Given the description of an element on the screen output the (x, y) to click on. 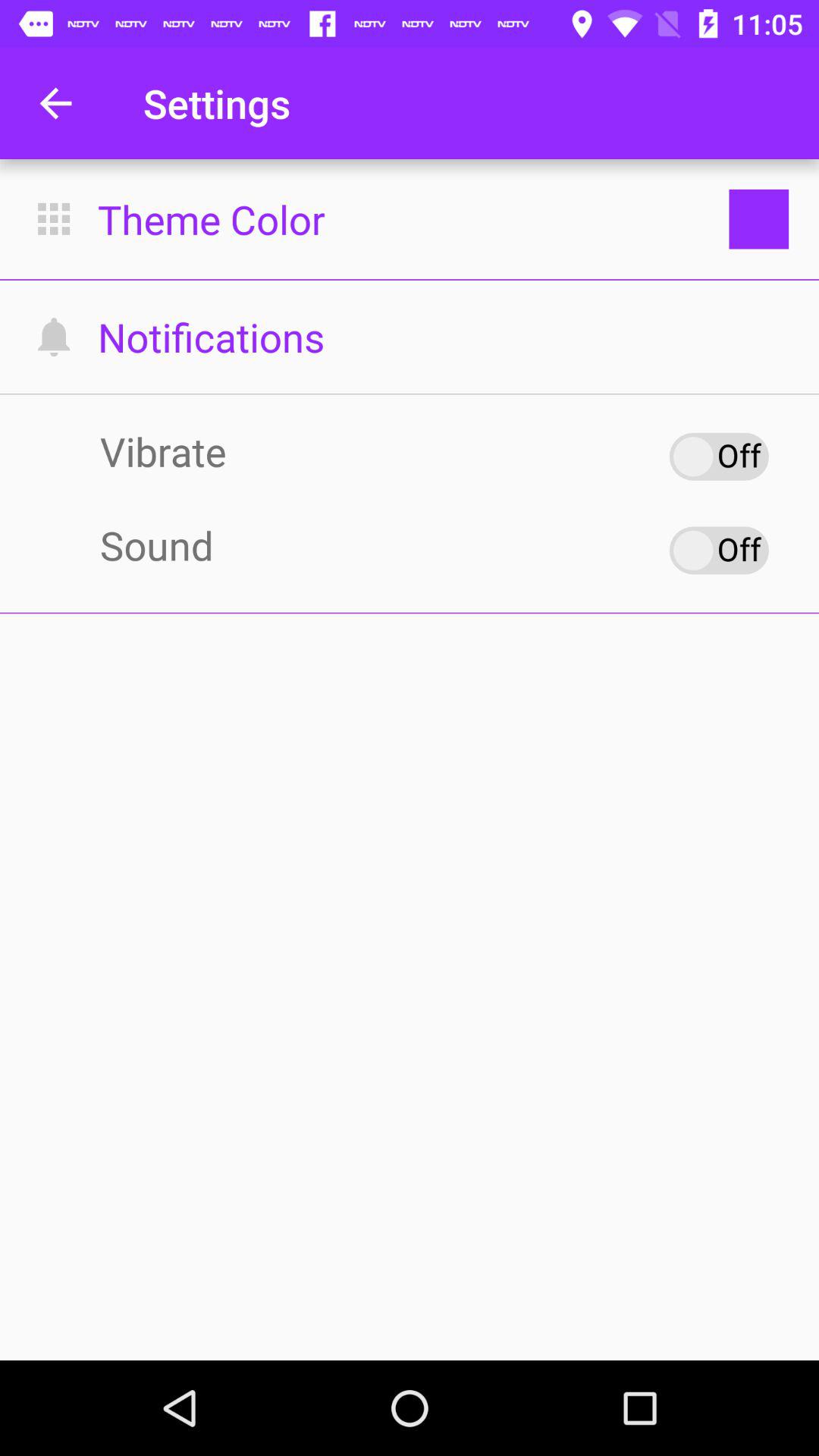
select the box which is to the right side of the theme color (758, 218)
click on the application icon which is left of the theme color (53, 219)
click on switch next to vibrate (719, 456)
